Given the description of an element on the screen output the (x, y) to click on. 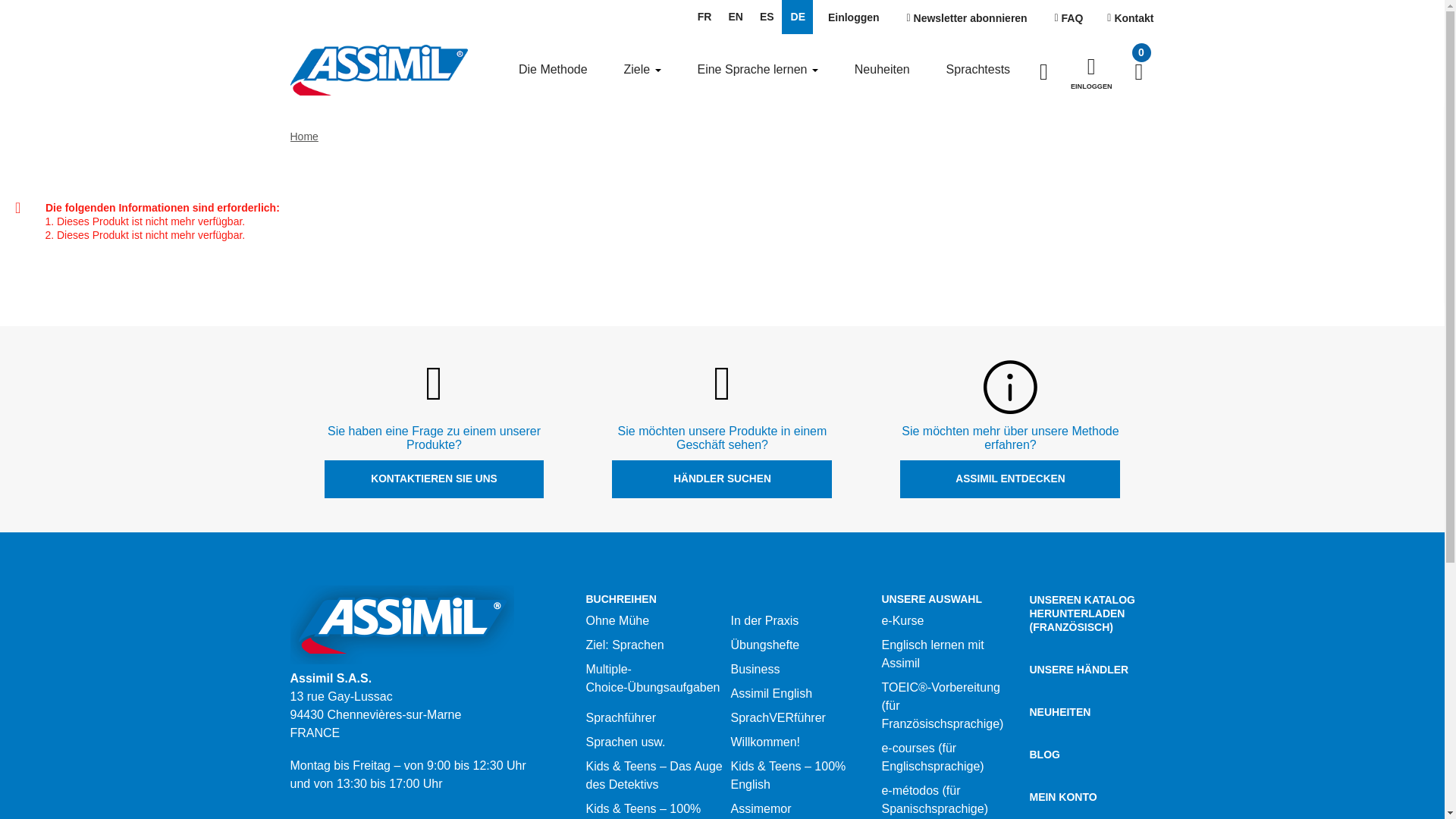
EN (734, 17)
Einloggen (853, 18)
Ziele (642, 69)
ES (766, 17)
Die Methode (553, 69)
Kontaktieren Sie uns (1130, 18)
assimil.com (401, 624)
EN (734, 17)
Eine Sprache lernen (757, 69)
Newsletter abonnieren (967, 18)
